Given the description of an element on the screen output the (x, y) to click on. 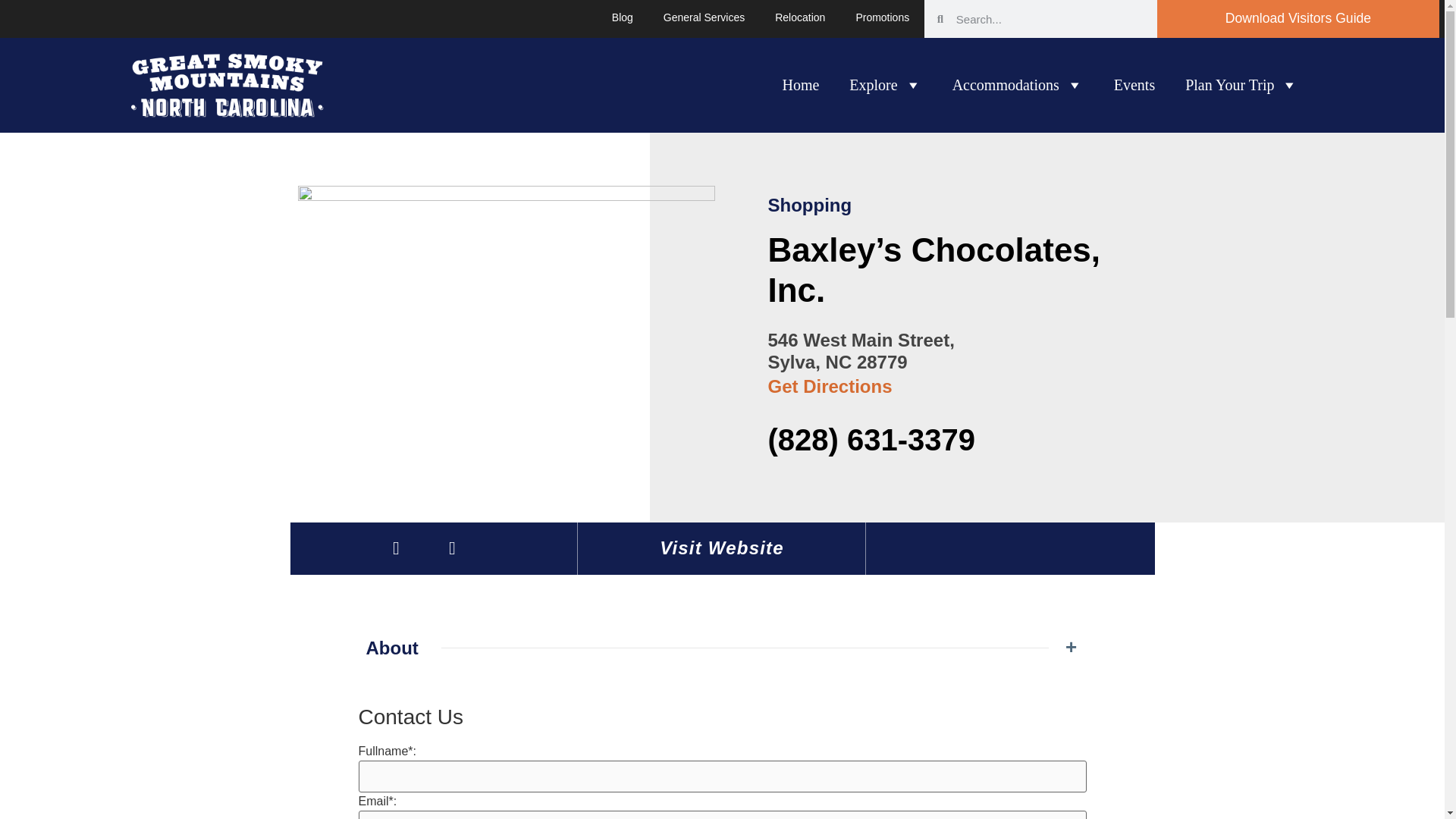
Explore (885, 84)
General Services (703, 17)
Home (800, 84)
Relocation (800, 17)
Promotions (882, 17)
Blog (621, 17)
Download Visitors Guide (1298, 17)
